Given the description of an element on the screen output the (x, y) to click on. 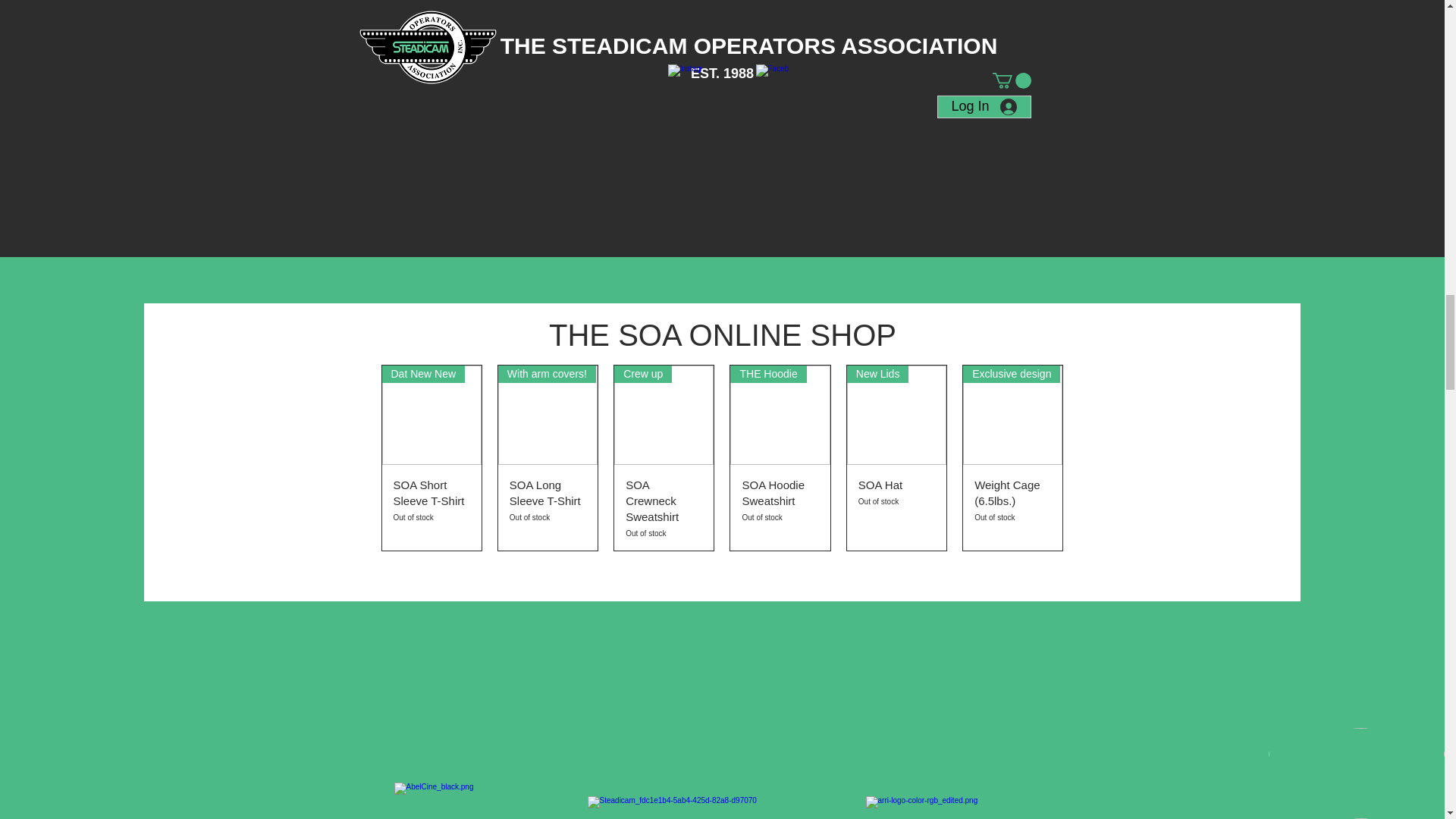
With arm covers! (547, 507)
Dat New New (546, 415)
